Given the description of an element on the screen output the (x, y) to click on. 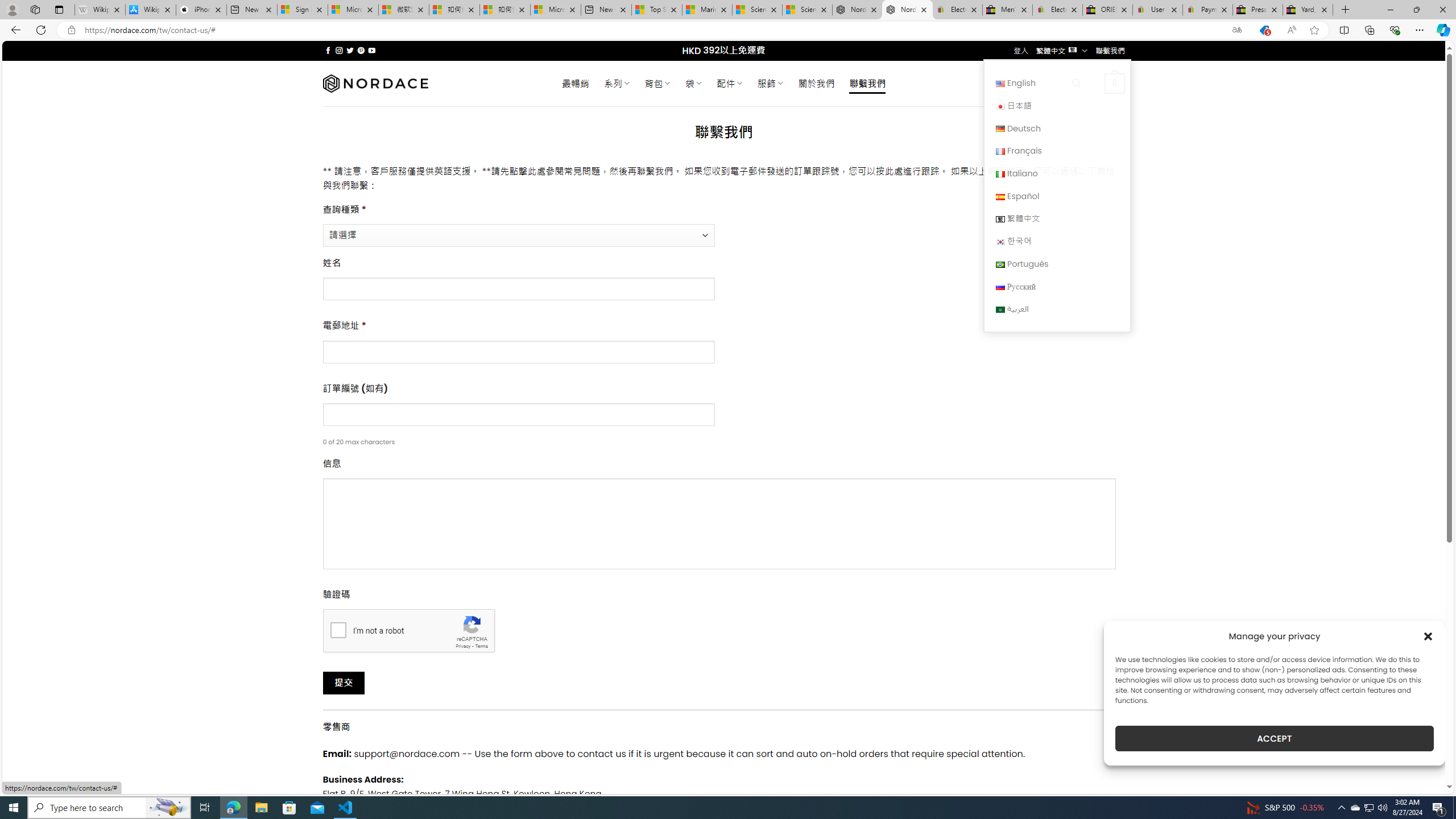
ACCEPT (1274, 738)
Marine life - MSN (706, 9)
User Privacy Notice | eBay (1158, 9)
